Given the description of an element on the screen output the (x, y) to click on. 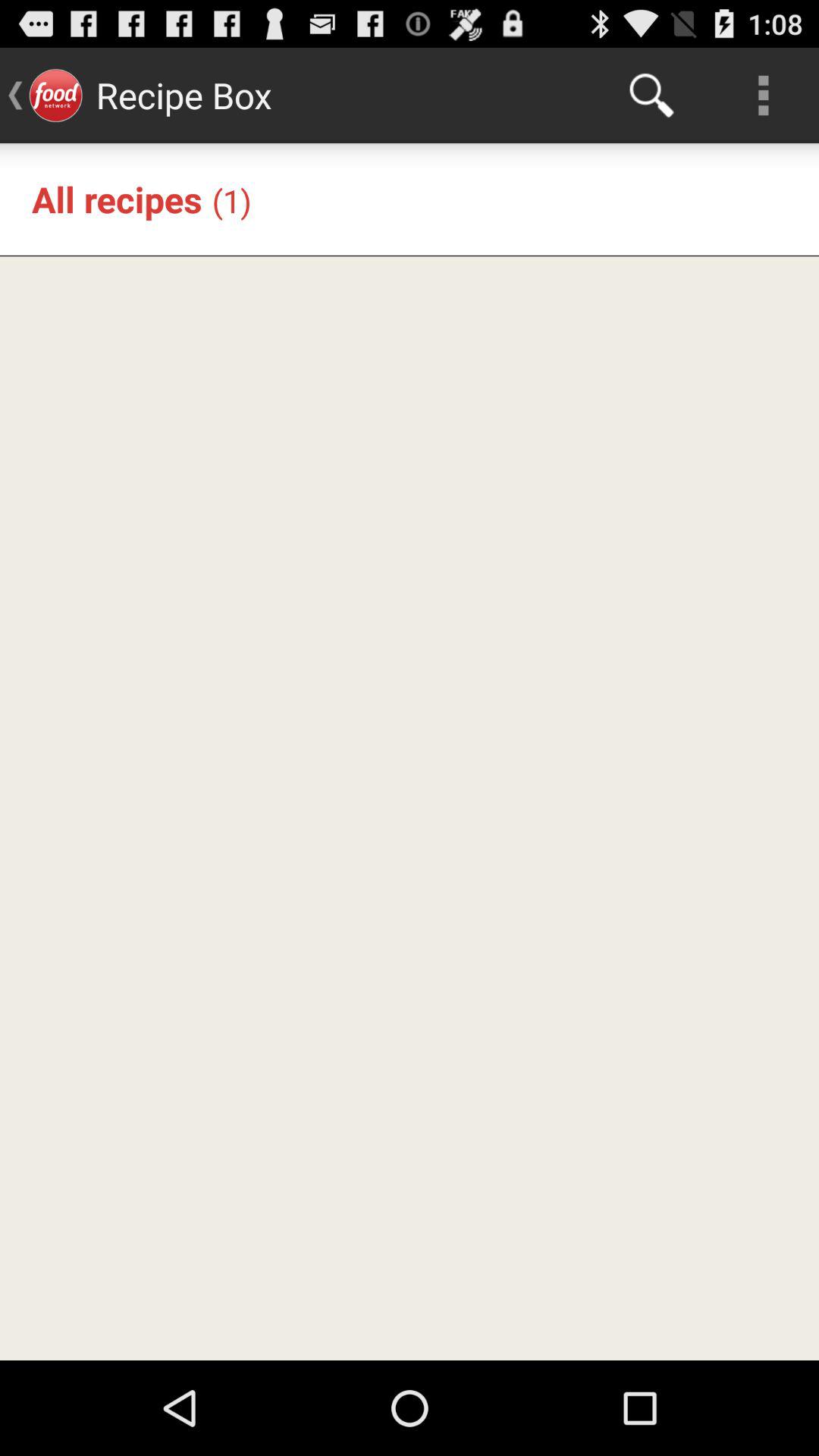
swipe to all recipes app (116, 199)
